Given the description of an element on the screen output the (x, y) to click on. 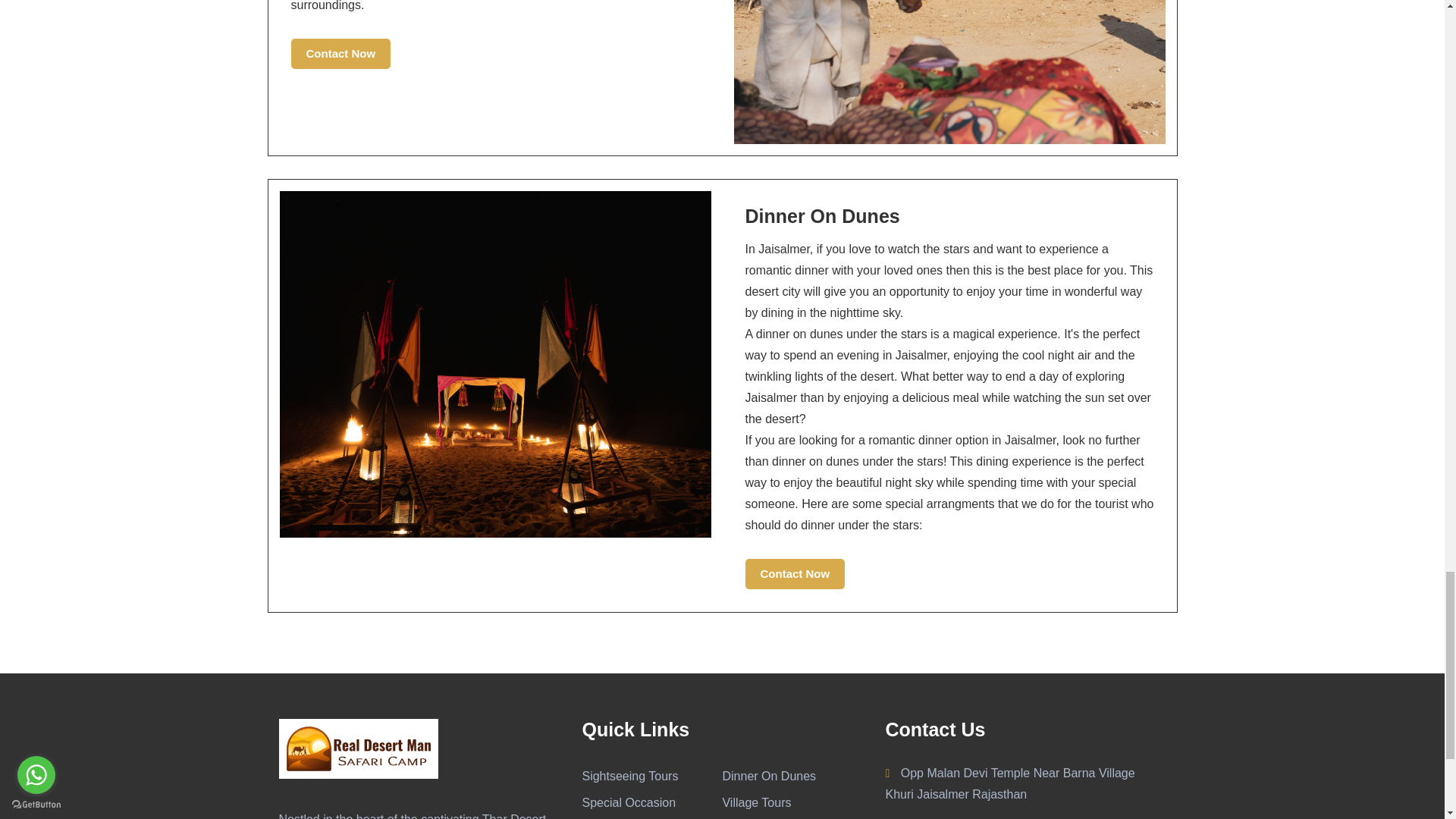
Dinner On Dunes (768, 775)
Contact Now (794, 573)
Special Occasion (627, 802)
Contact Now (341, 53)
Sightseeing Tours (629, 775)
Village Tours (756, 802)
